Given the description of an element on the screen output the (x, y) to click on. 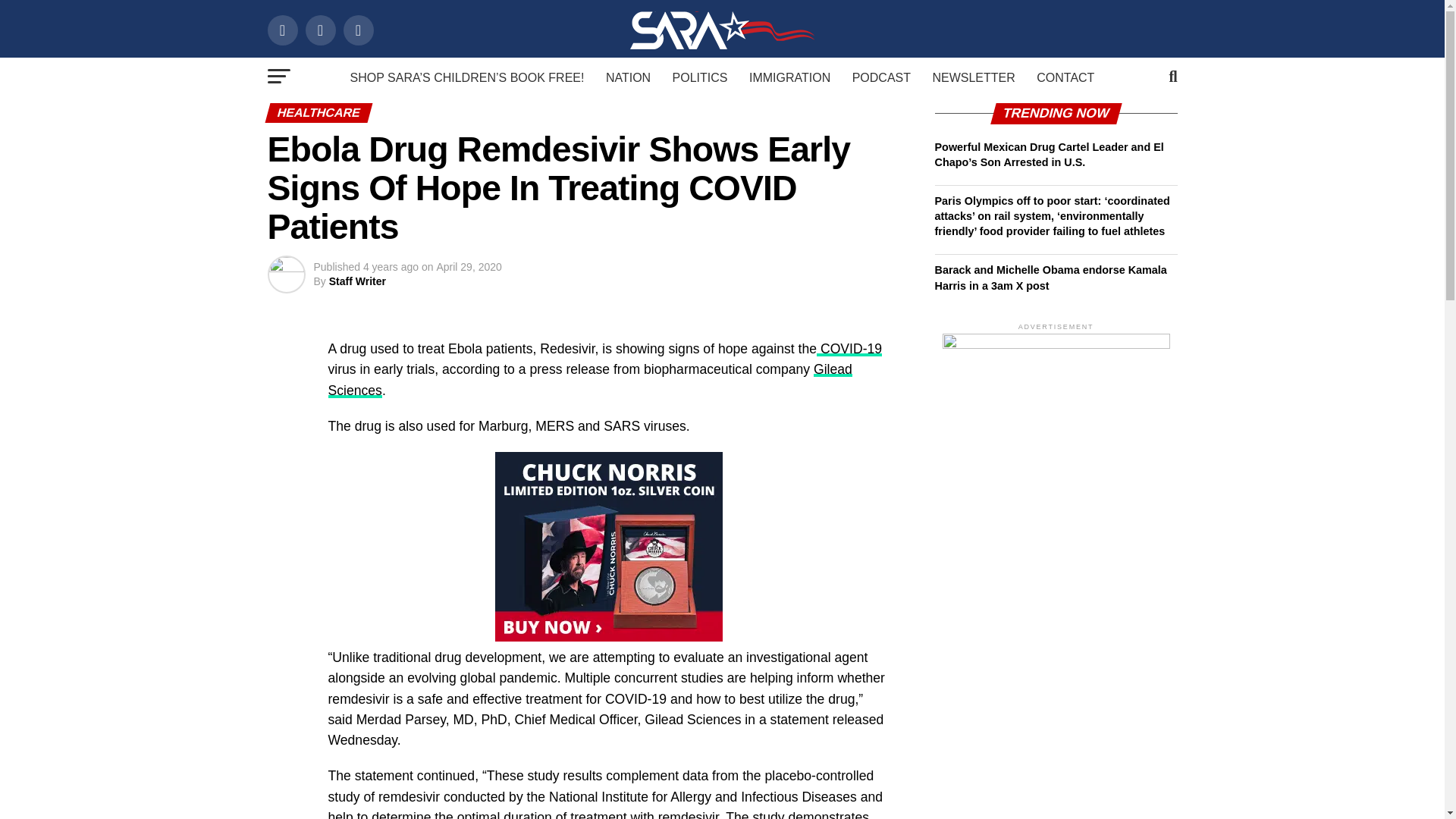
PODCAST (881, 77)
POLITICS (699, 77)
IMMIGRATION (789, 77)
COVID-19 (849, 348)
Staff Writer (357, 281)
NEWSLETTER (973, 77)
NATION (627, 77)
CONTACT (1065, 77)
Posts by Staff Writer (357, 281)
Gilead Sciences (589, 379)
